Given the description of an element on the screen output the (x, y) to click on. 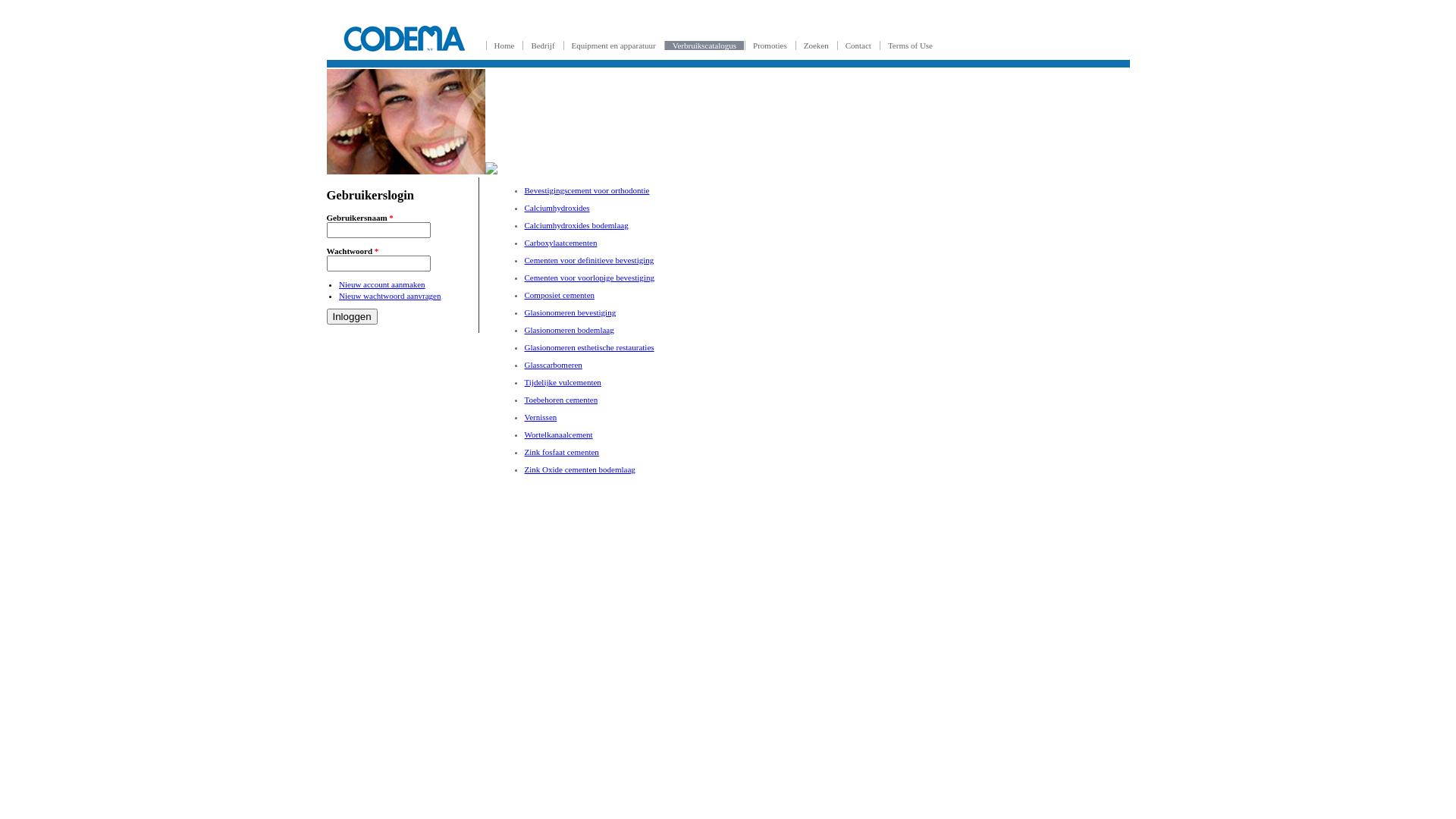
Vernissen Element type: text (540, 416)
Overslaan en naar de inhoud gaan Element type: text (88, 6)
Zink fosfaat cementen Element type: text (561, 451)
Promoties Element type: text (769, 45)
Zoeken Element type: text (816, 45)
Glasionomeren bevestiging Element type: text (570, 311)
Calciumhydroxides Element type: text (556, 207)
Cementen voor definitieve bevestiging Element type: text (589, 259)
Carboxylaatcementen Element type: text (560, 242)
Bedrijf Element type: text (542, 45)
Verbruikscatalogus Element type: text (704, 45)
Toebehoren cementen Element type: text (561, 399)
Home Element type: text (503, 45)
Glasionomeren bodemlaag Element type: text (569, 329)
Terms of Use Element type: text (910, 45)
Cementen voor voorlopige bevestiging Element type: text (589, 277)
Equipment en apparatuur Element type: text (613, 45)
Zink Oxide cementen bodemlaag Element type: text (579, 468)
Calciumhydroxides bodemlaag Element type: text (576, 224)
Composiet cementen Element type: text (559, 294)
Contact Element type: text (858, 45)
Tijdelijke vulcementen Element type: text (562, 381)
Glasionomeren esthetische restauraties Element type: text (589, 346)
Nieuw wachtwoord aanvragen Element type: text (389, 295)
Bevestigingscement voor orthodontie Element type: text (586, 189)
Wortelkanaalcement Element type: text (558, 434)
Inloggen Element type: text (351, 316)
Glasscarbomeren Element type: text (553, 364)
Nieuw account aanmaken Element type: text (381, 283)
